Given the description of an element on the screen output the (x, y) to click on. 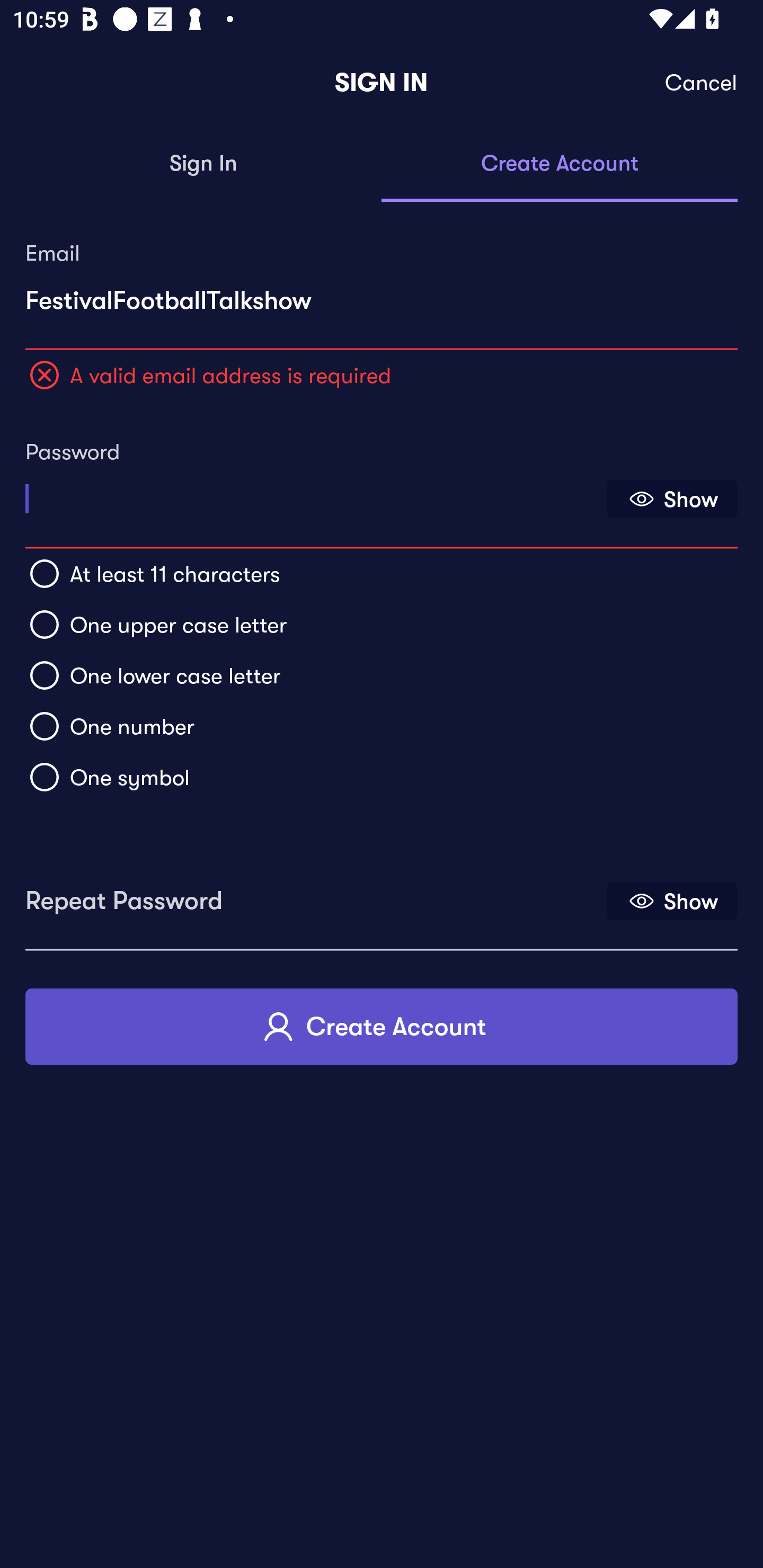
Cancel (701, 82)
Sign In (203, 164)
Create Account (559, 164)
Password, error message, At least 11 characters (314, 493)
Show Password Show (671, 498)
Repeat Password (314, 894)
Show Repeat Password Show (671, 900)
Create Account (381, 1025)
